Given the description of an element on the screen output the (x, y) to click on. 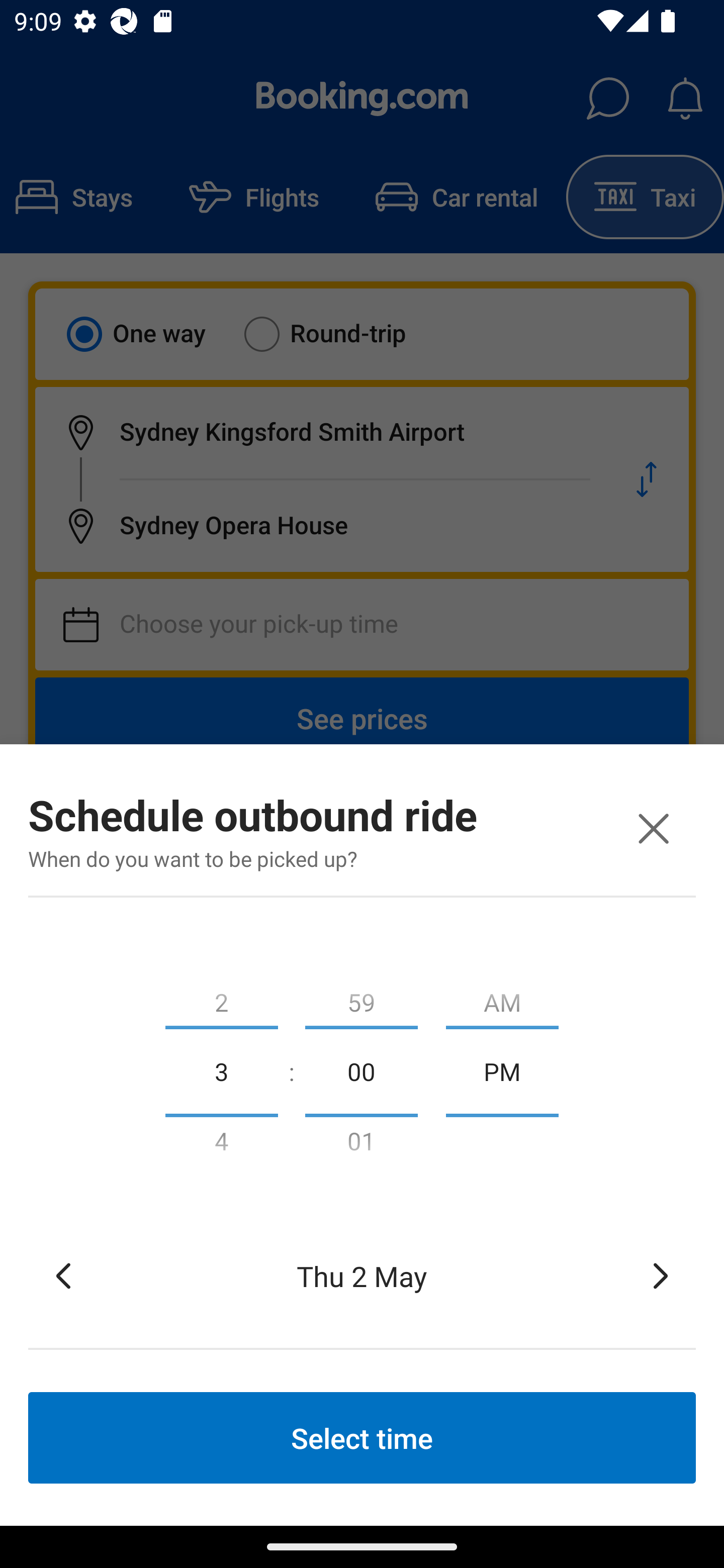
Close window (653, 828)
2 (221, 997)
59 (361, 997)
AM (501, 997)
3 (221, 1070)
00 (361, 1070)
PM (501, 1070)
4 (221, 1144)
01 (361, 1144)
Tap to move back to the previous date (63, 1275)
Tap to move forward to the next date (660, 1275)
Thu 2 May Selected date, Thursday, 2 May (361, 1275)
Select time (361, 1437)
